Given the description of an element on the screen output the (x, y) to click on. 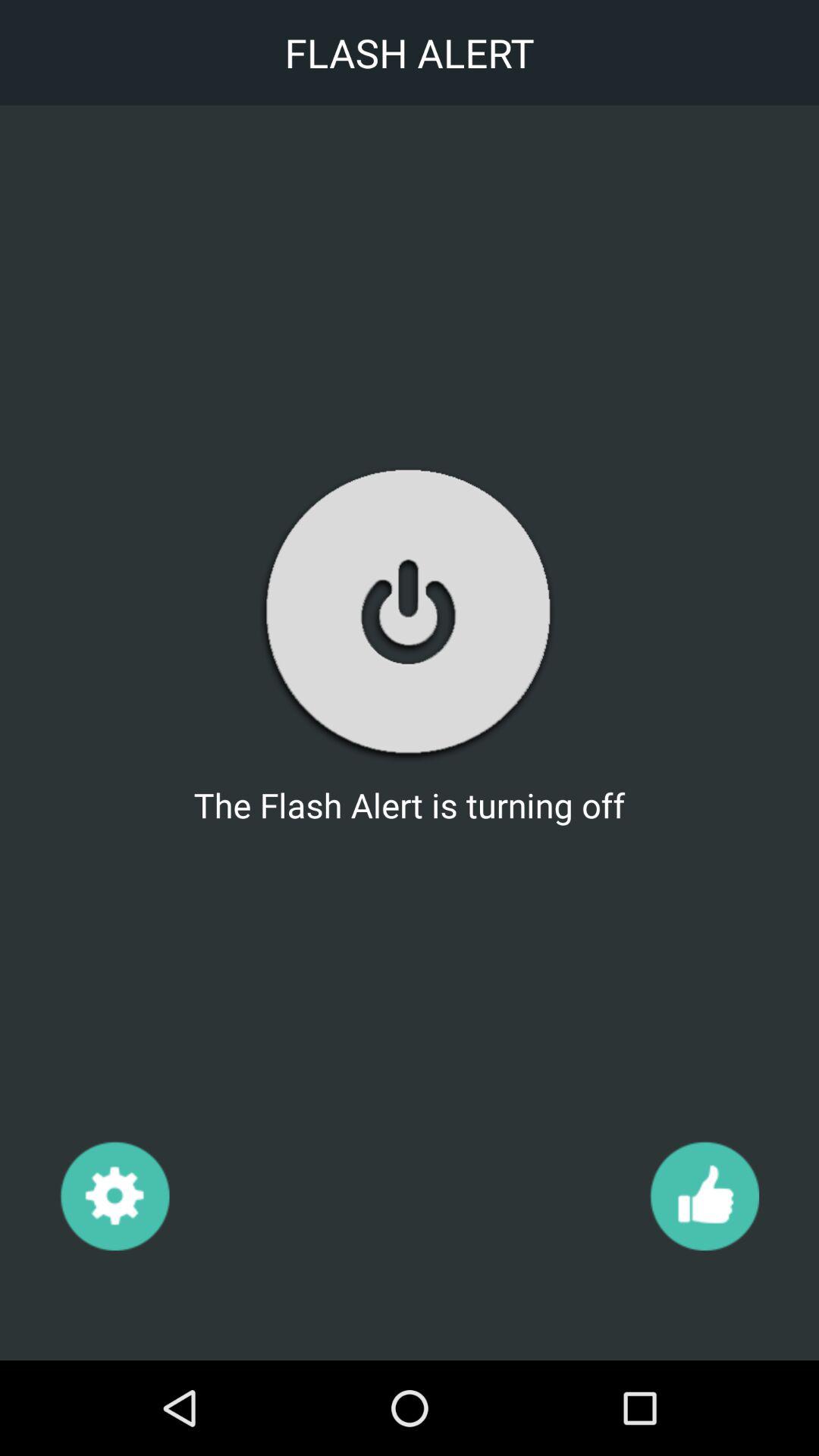
the the alert on (409, 612)
